Given the description of an element on the screen output the (x, y) to click on. 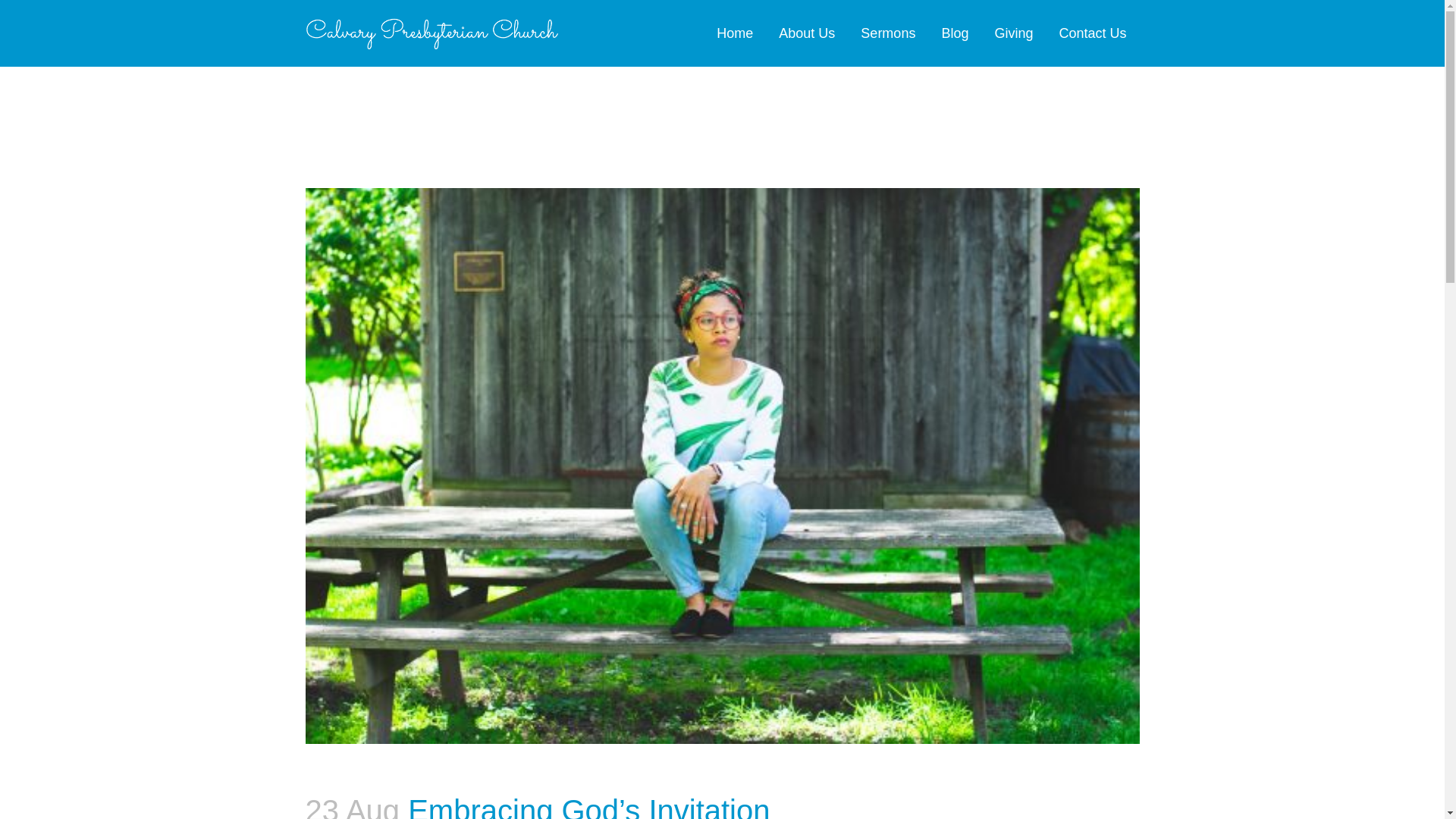
Home (734, 33)
Giving (1013, 33)
Sermons (887, 33)
About Us (806, 33)
Contact Us (1091, 33)
